Given the description of an element on the screen output the (x, y) to click on. 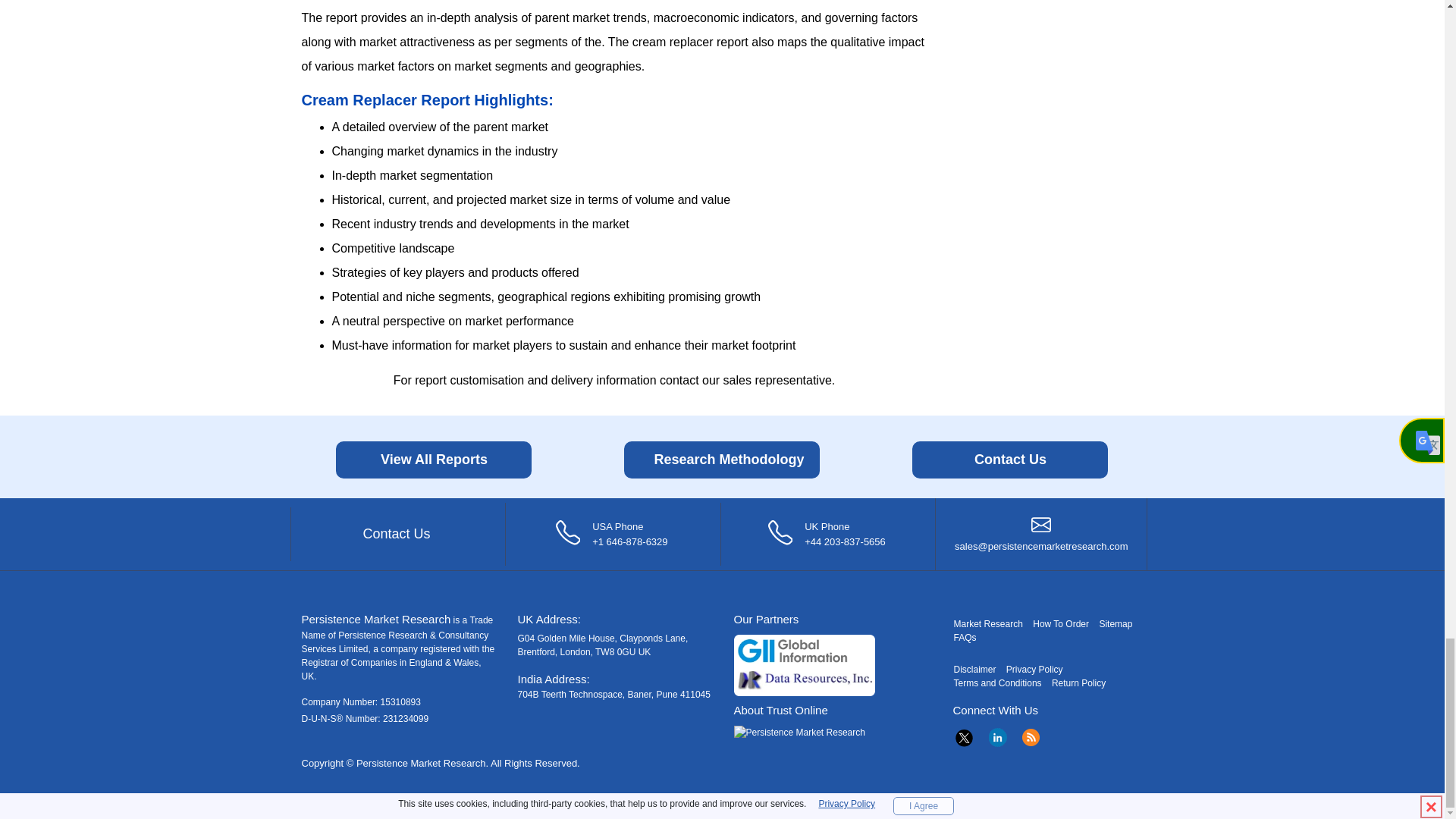
View All Reports (433, 459)
Research Methodology (721, 459)
Contact Us (1010, 459)
